Given the description of an element on the screen output the (x, y) to click on. 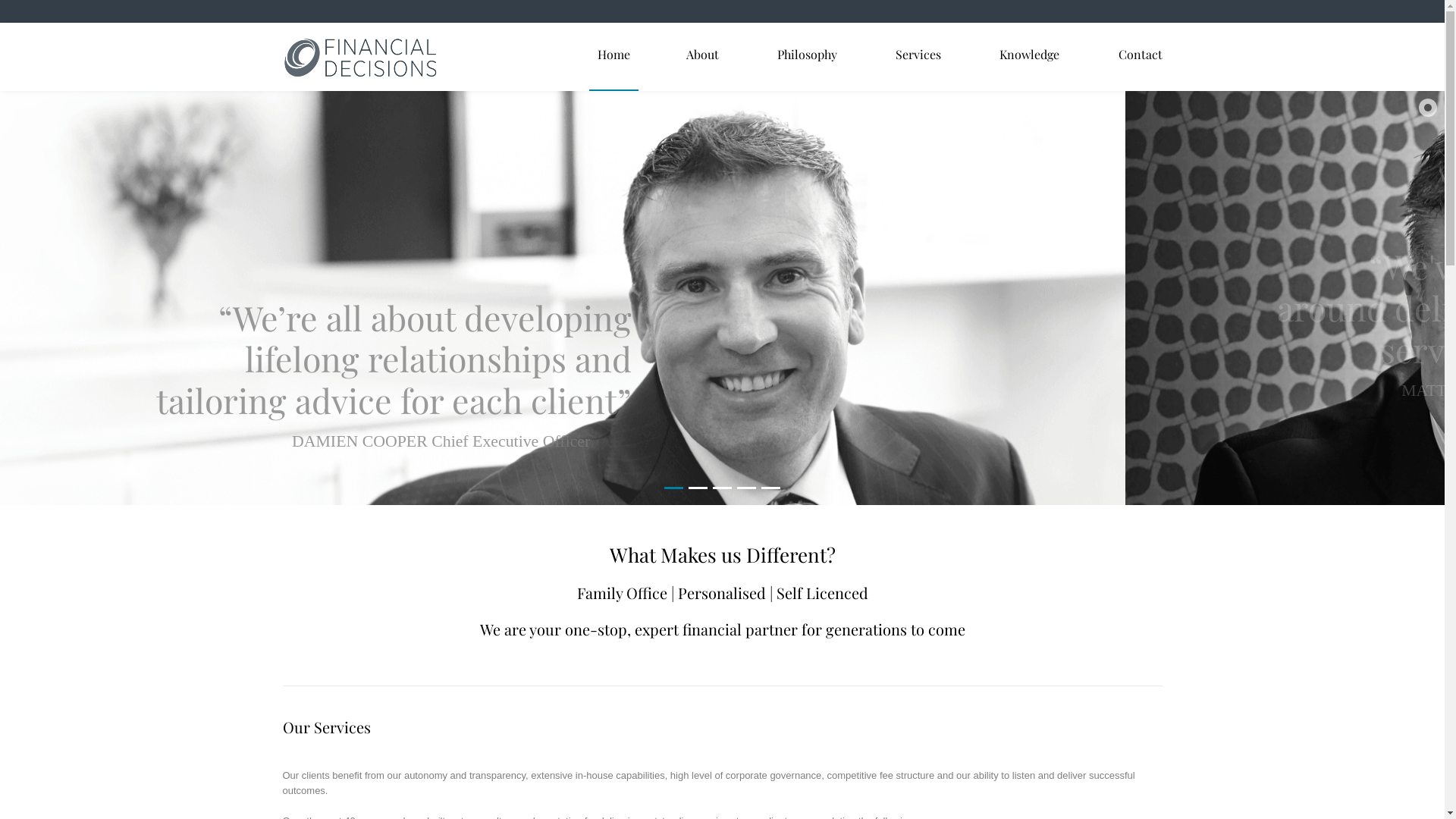
Home Element type: text (613, 54)
Financial Decisions Element type: hover (359, 57)
About Element type: text (701, 54)
Services Element type: text (918, 54)
Philosophy Element type: text (807, 54)
Contact Element type: text (1139, 54)
Knowledge Element type: text (1029, 54)
